Given the description of an element on the screen output the (x, y) to click on. 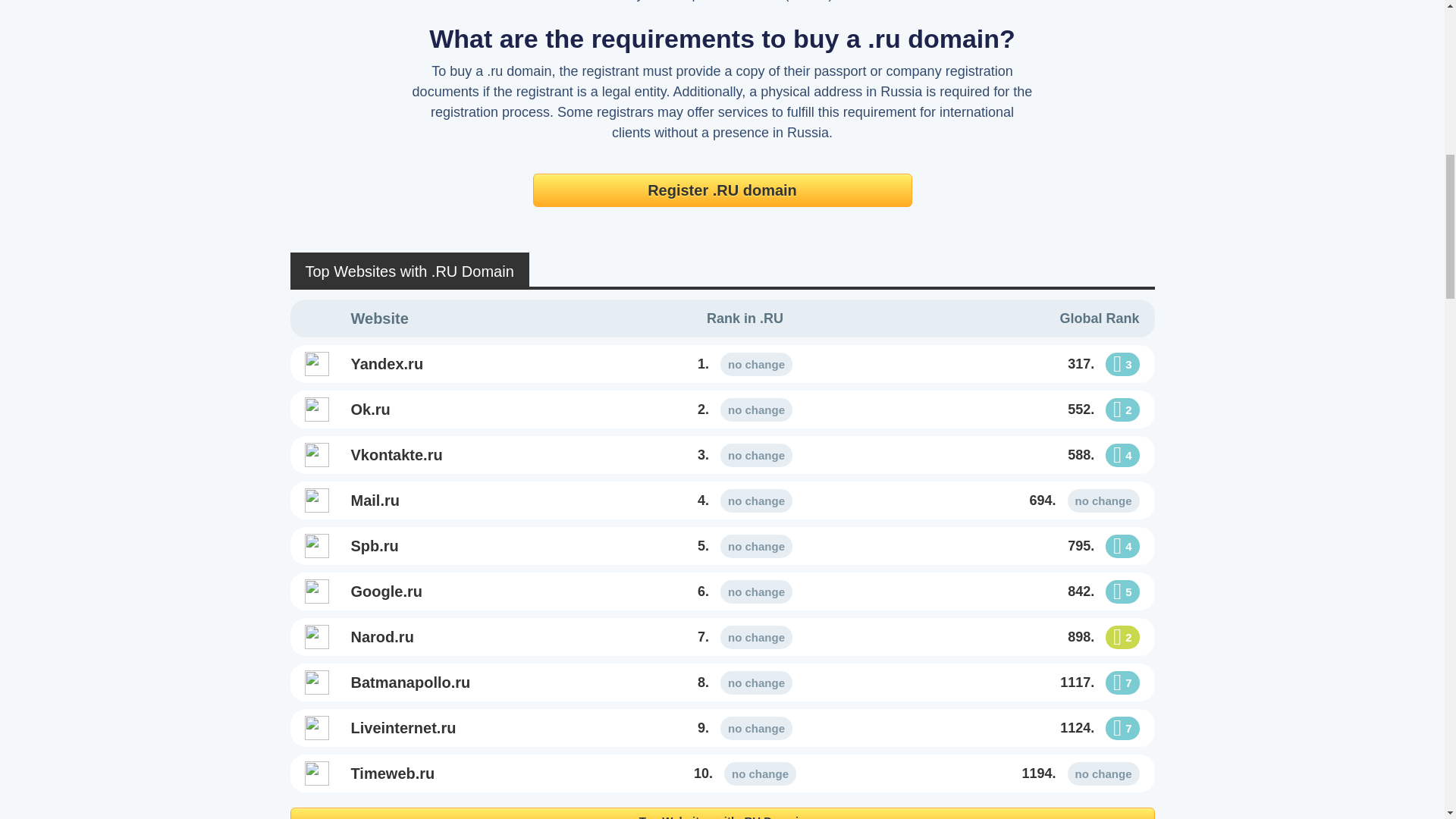
vkontakte.ru ranks number 3. in .RU domain (481, 454)
ok.ru ranks number 2. in .RU domain (744, 409)
yandex.ru ranks number 1. in .RU domain (744, 363)
Dropped 2 positions (1121, 409)
Top Websites with .RU Domain (721, 813)
vkontakte.ru ranks number 3. in .RU domain (744, 455)
ok.ru ranks number 552. Globally (1008, 409)
ok.ru ranks number 2. in .RU domain (481, 409)
Maintained position (756, 454)
Register .RU domain (721, 190)
yandex.ru ranks number 1. in .RU domain (481, 363)
yandex.ru ranks number 317. Globally (1008, 363)
Dropped 3 positions (1121, 363)
Maintained position (756, 409)
Maintained position (756, 363)
